Given the description of an element on the screen output the (x, y) to click on. 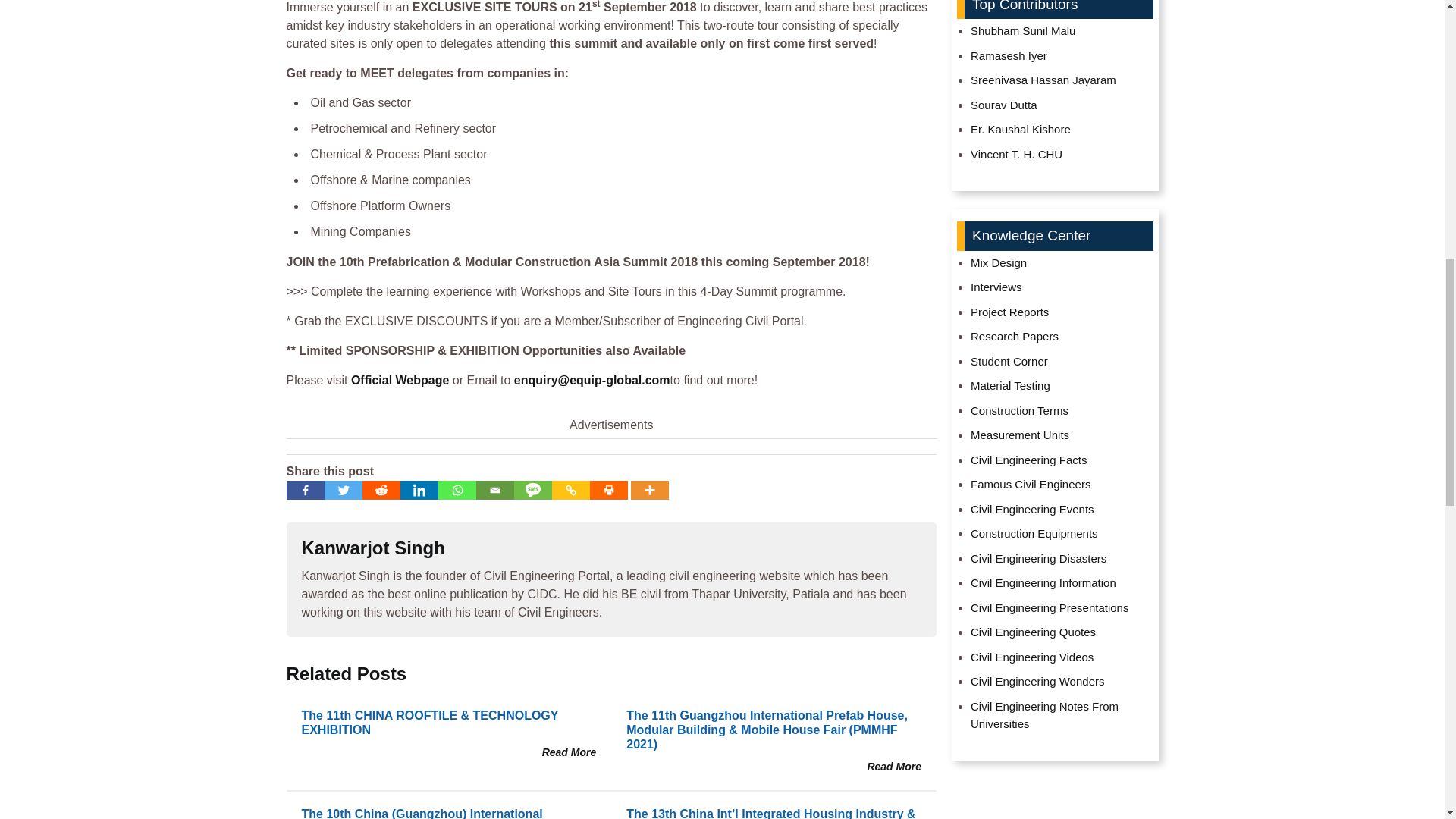
Reddit (381, 489)
Twitter (343, 489)
SMS (532, 489)
More (649, 489)
Facebook (305, 489)
Whatsapp (457, 489)
Print (608, 489)
Copy Link (570, 489)
Linkedin (419, 489)
Email (494, 489)
